Given the description of an element on the screen output the (x, y) to click on. 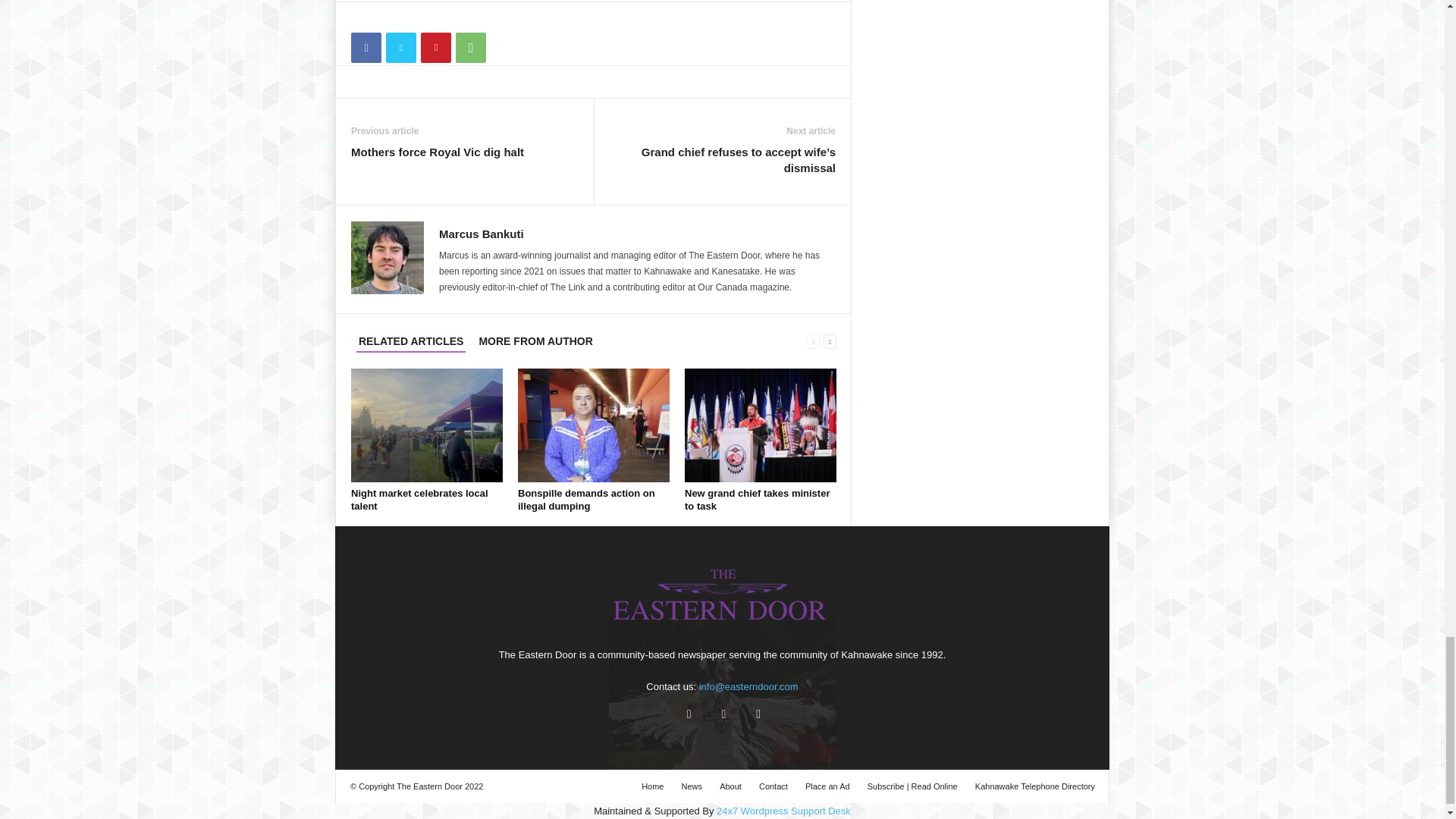
Twitter (400, 47)
Facebook (365, 47)
